Given the description of an element on the screen output the (x, y) to click on. 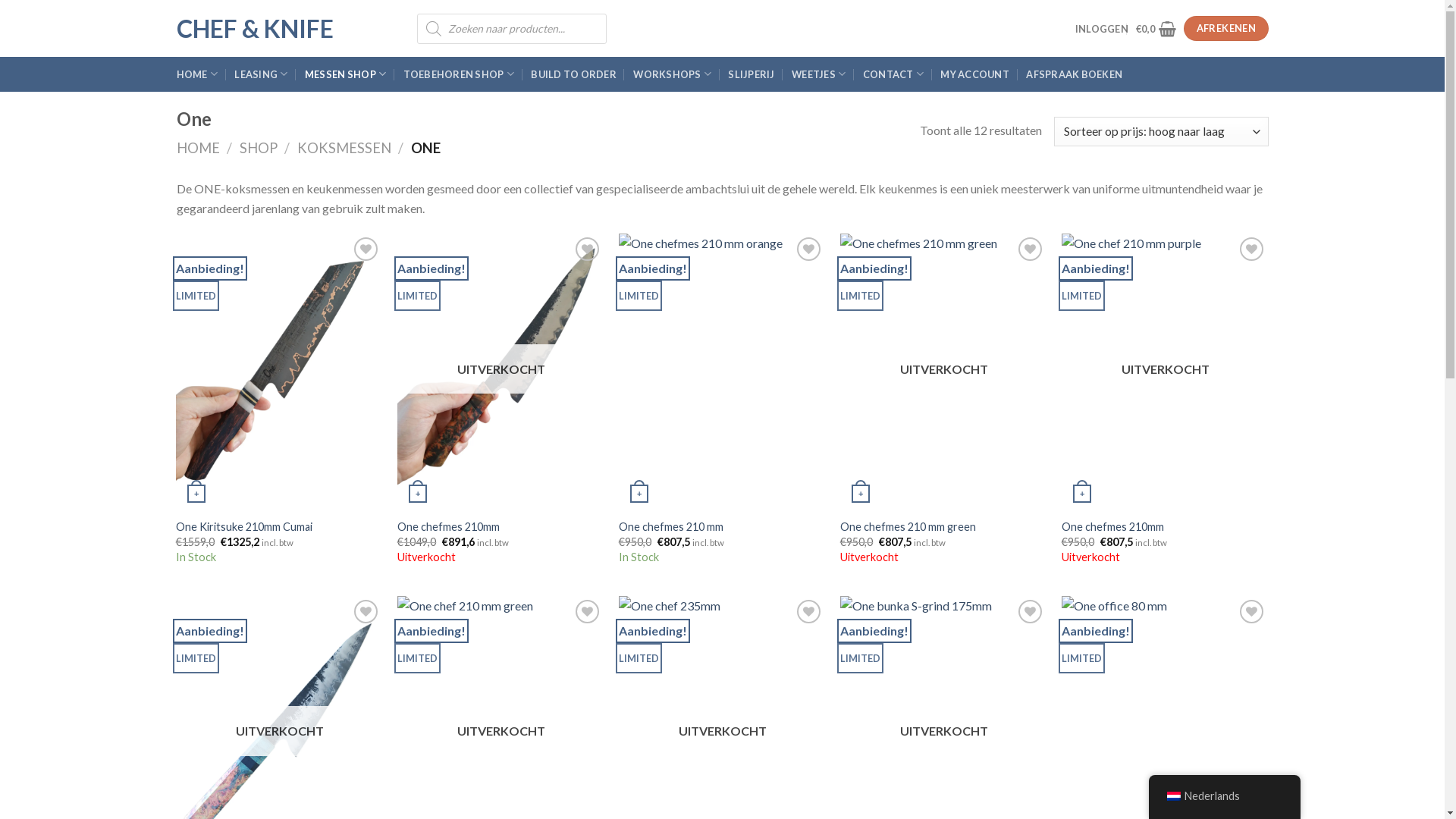
CONTACT Element type: text (892, 73)
One chefmes 210 mm green Element type: text (907, 527)
LEASING Element type: text (260, 73)
KOKSMESSEN Element type: text (344, 147)
Nederlands Element type: hover (1172, 795)
CHEF & KNIFE Element type: text (284, 28)
One chefmes 210mm Element type: text (448, 527)
AFSPRAAK BOEKEN Element type: text (1074, 73)
One chefmes 210mm Element type: text (1112, 527)
SLIJPERIJ Element type: text (751, 73)
One chefmes 210 mm Element type: text (670, 527)
INLOGGEN Element type: text (1101, 28)
WORKSHOPS Element type: text (672, 73)
MESSEN SHOP Element type: text (344, 73)
HOME Element type: text (197, 147)
SHOP Element type: text (258, 147)
TOEBEHOREN SHOP Element type: text (458, 73)
BUILD TO ORDER Element type: text (573, 73)
AFREKENEN Element type: text (1225, 27)
WEETJES Element type: text (818, 73)
HOME Element type: text (195, 73)
One Kiritsuke 210mm Cumai Element type: text (243, 527)
Nederlands Element type: text (1223, 795)
MY ACCOUNT Element type: text (974, 73)
